Given the description of an element on the screen output the (x, y) to click on. 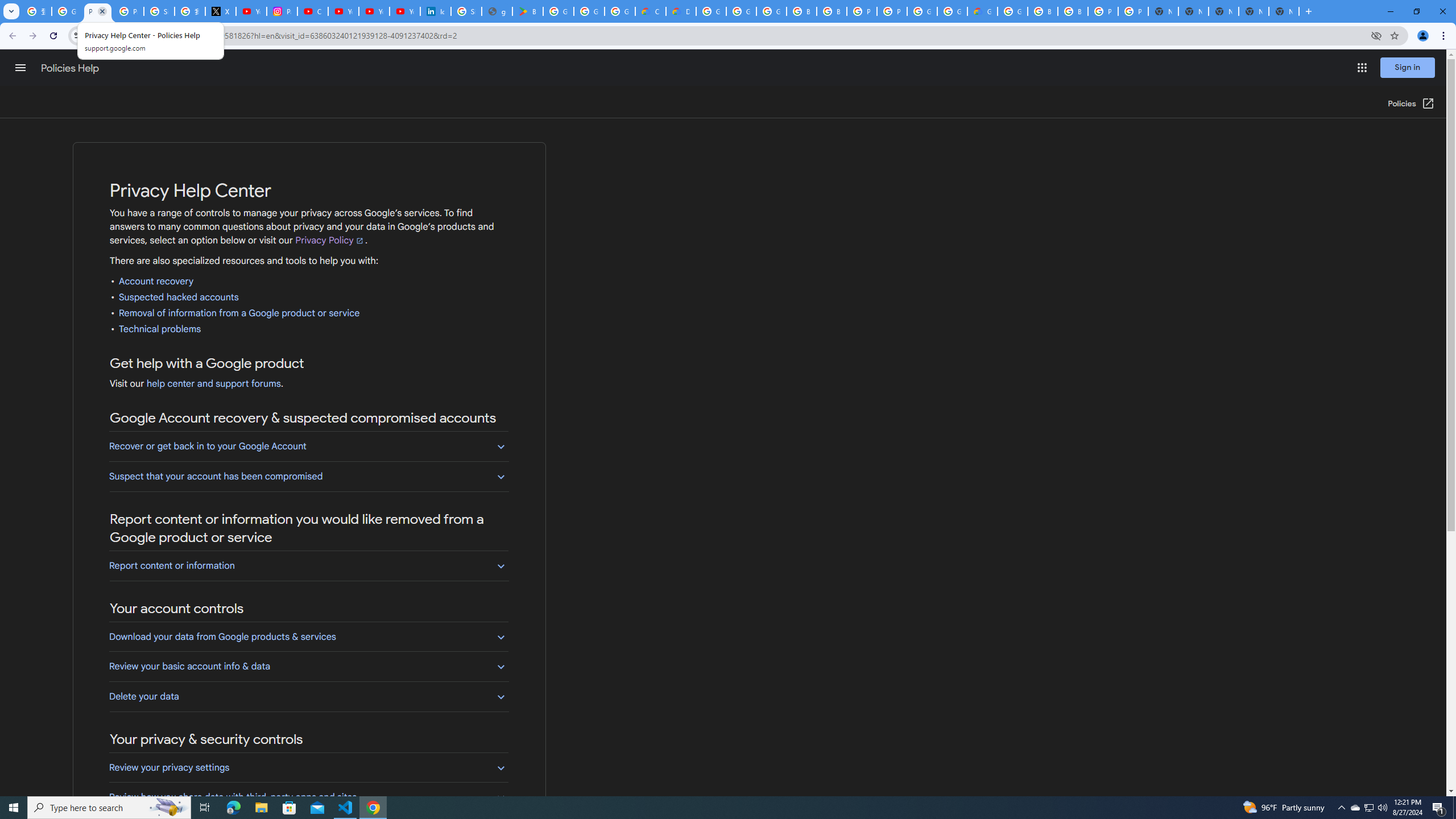
Download your data from Google products & services (308, 636)
Google Workspace - Specific Terms (619, 11)
Technical problems (159, 328)
X (220, 11)
Google Cloud Platform (951, 11)
Google Cloud Platform (922, 11)
